Given the description of an element on the screen output the (x, y) to click on. 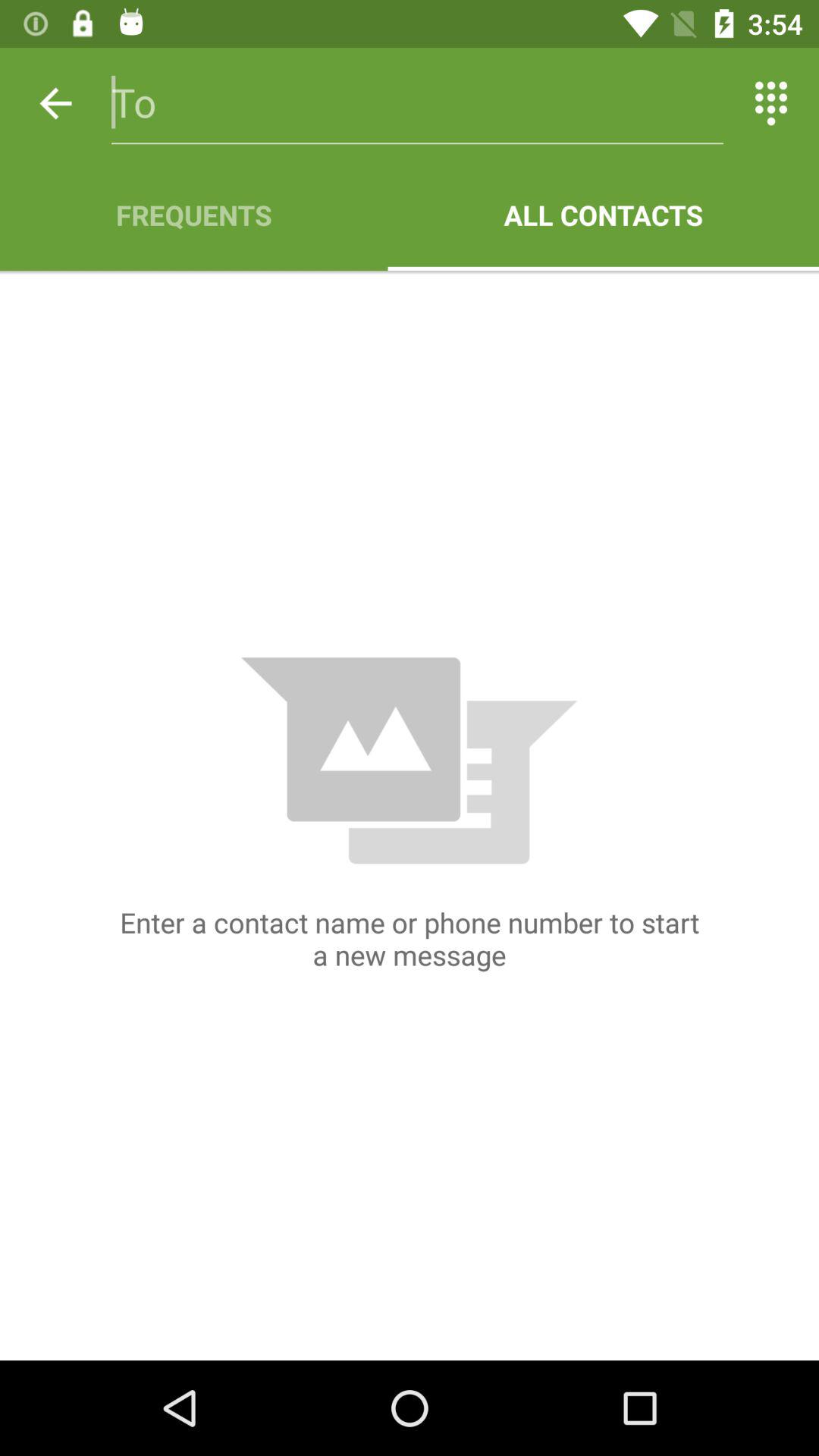
swipe to frequents (193, 214)
